Given the description of an element on the screen output the (x, y) to click on. 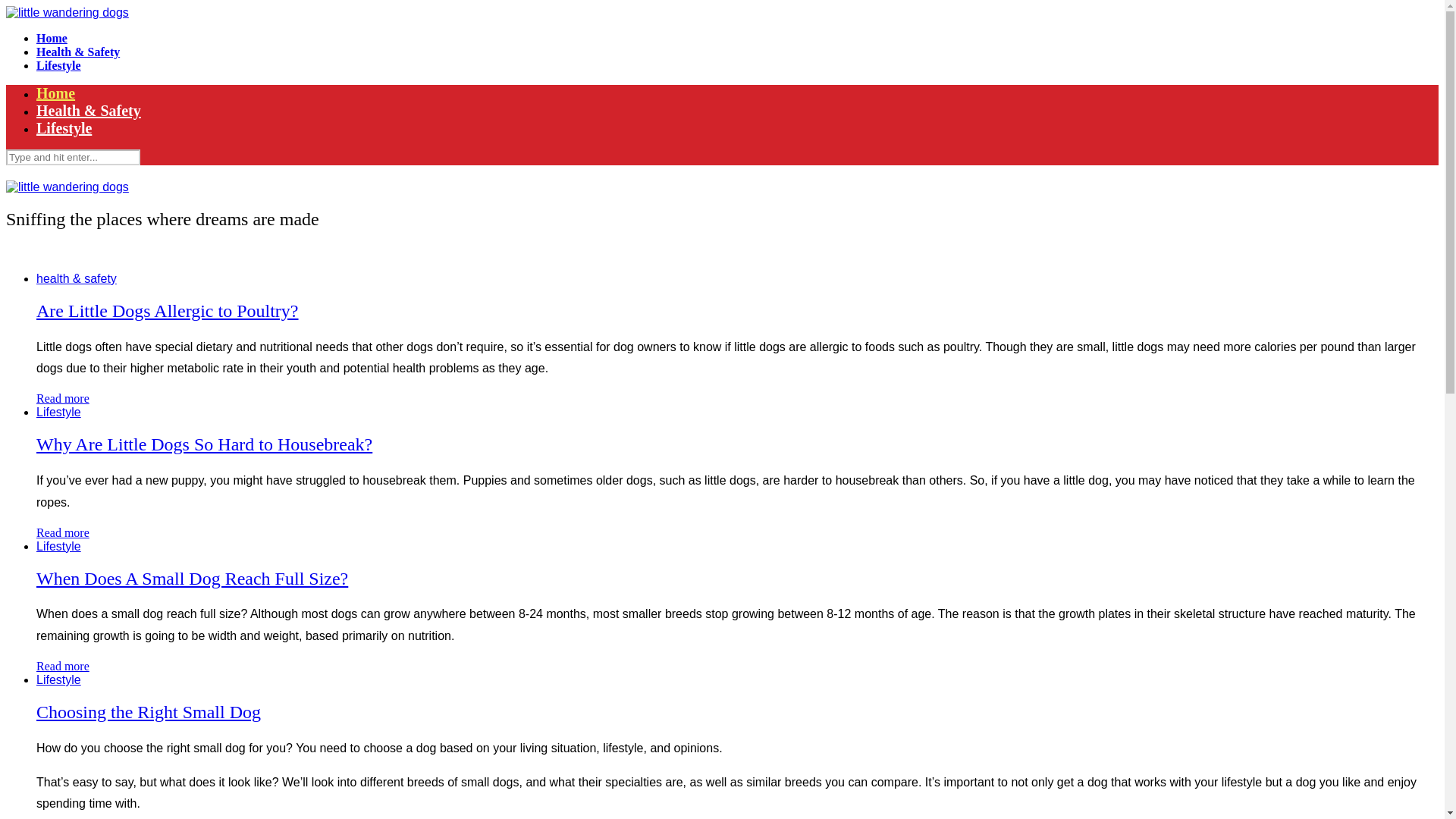
Why Are Little Dogs So Hard to Housebreak? (204, 444)
Home (55, 93)
When Does A Small Dog Reach Full Size? (191, 578)
Home (51, 38)
Lifestyle (58, 411)
Are Little Dogs Allergic to Poultry? (167, 311)
Lifestyle (58, 545)
Lifestyle (63, 127)
Read more (62, 398)
Lifestyle (58, 65)
